Given the description of an element on the screen output the (x, y) to click on. 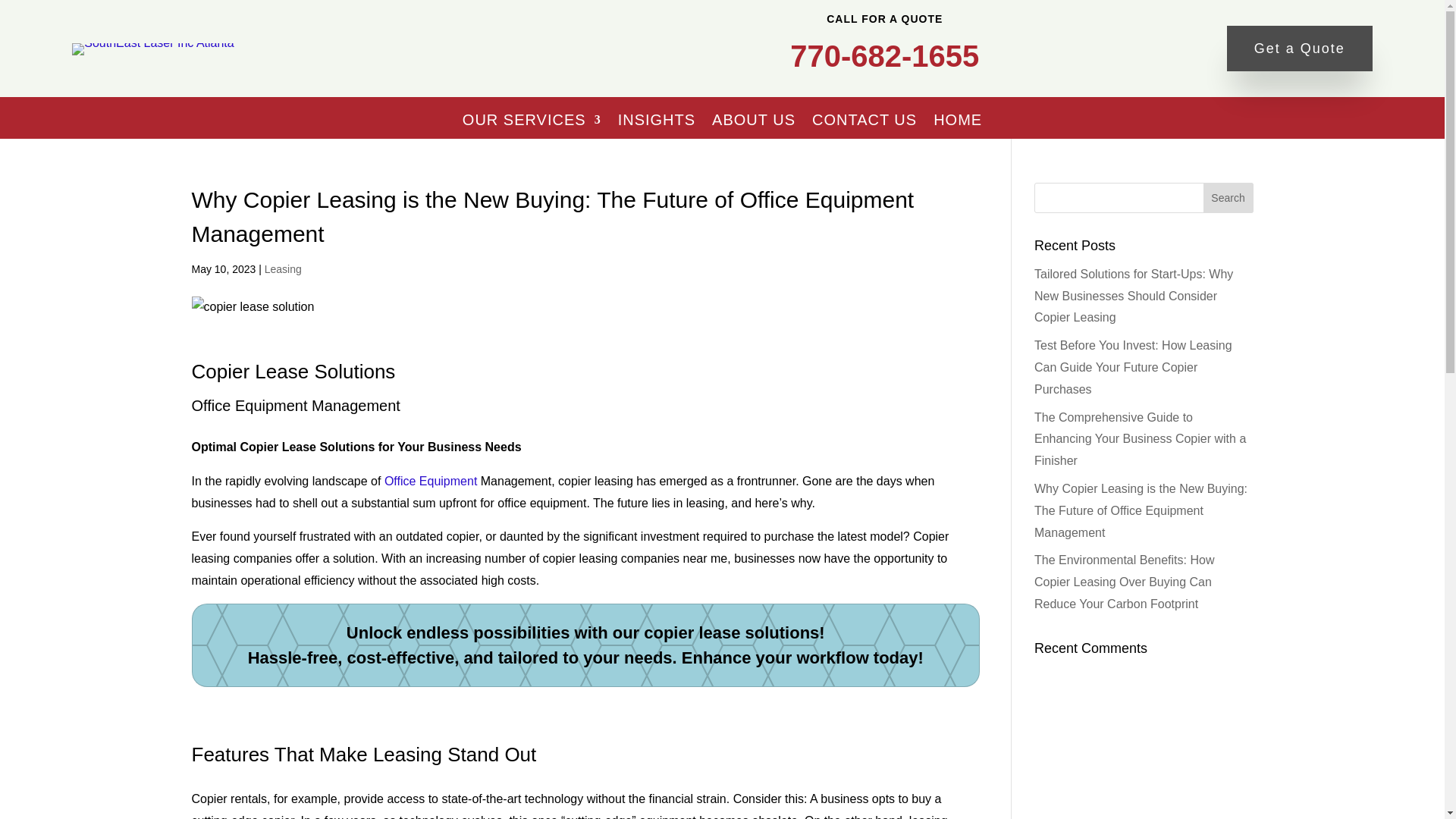
OUR SERVICES (532, 120)
SouthEast Laser Inc Atlanta logo (151, 49)
Get a Quote (1300, 48)
CONTACT US (864, 120)
Office Equipment (430, 481)
770-682-1655 (884, 55)
HOME (957, 120)
Search (1228, 197)
Leasing (282, 268)
ABOUT US (752, 120)
